Given the description of an element on the screen output the (x, y) to click on. 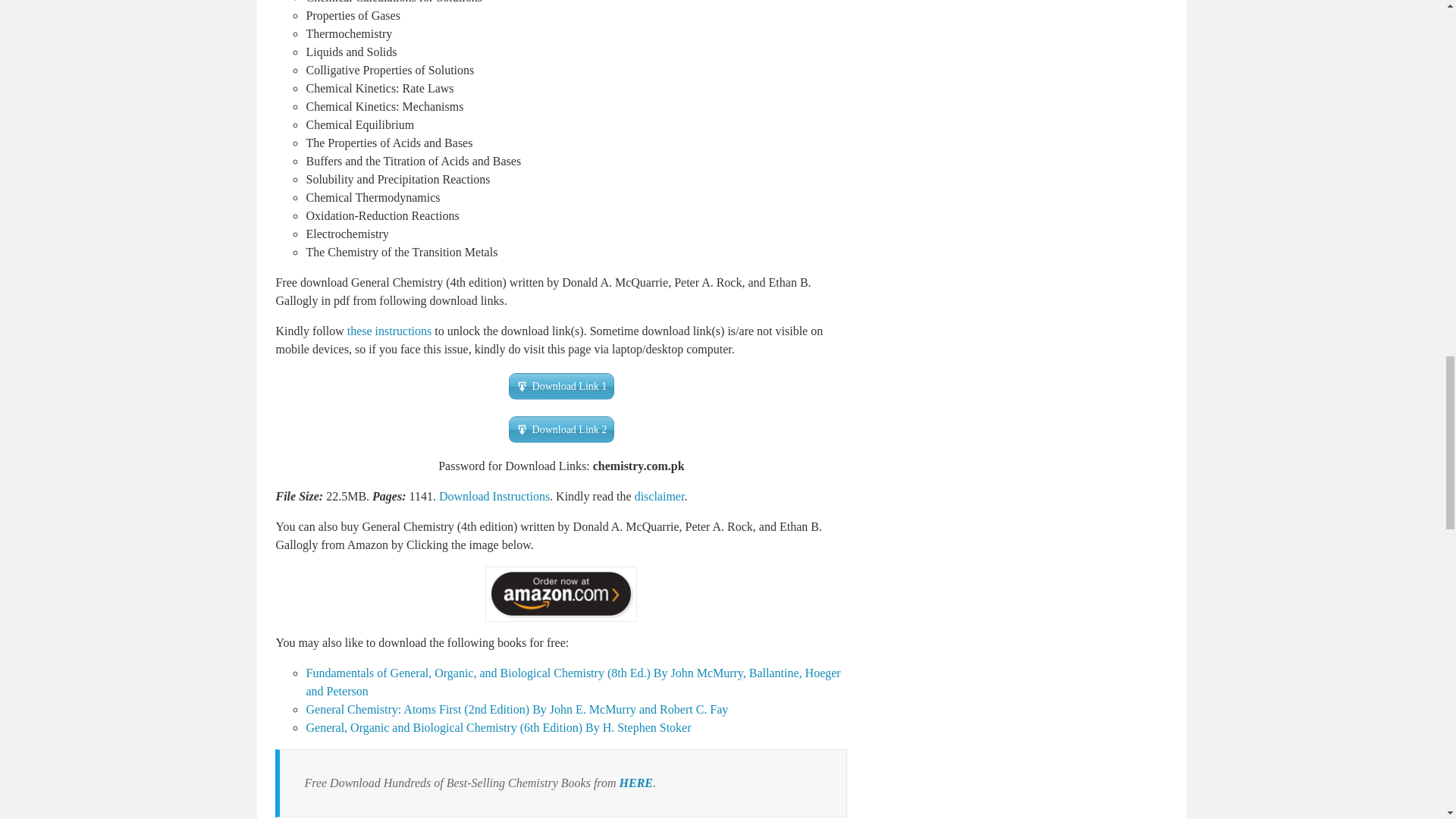
disclaimer (659, 495)
Download Link 1 (561, 386)
Download Instructions (494, 495)
these instructions (389, 330)
Download Link 2 (561, 429)
HERE (636, 782)
